Given the description of an element on the screen output the (x, y) to click on. 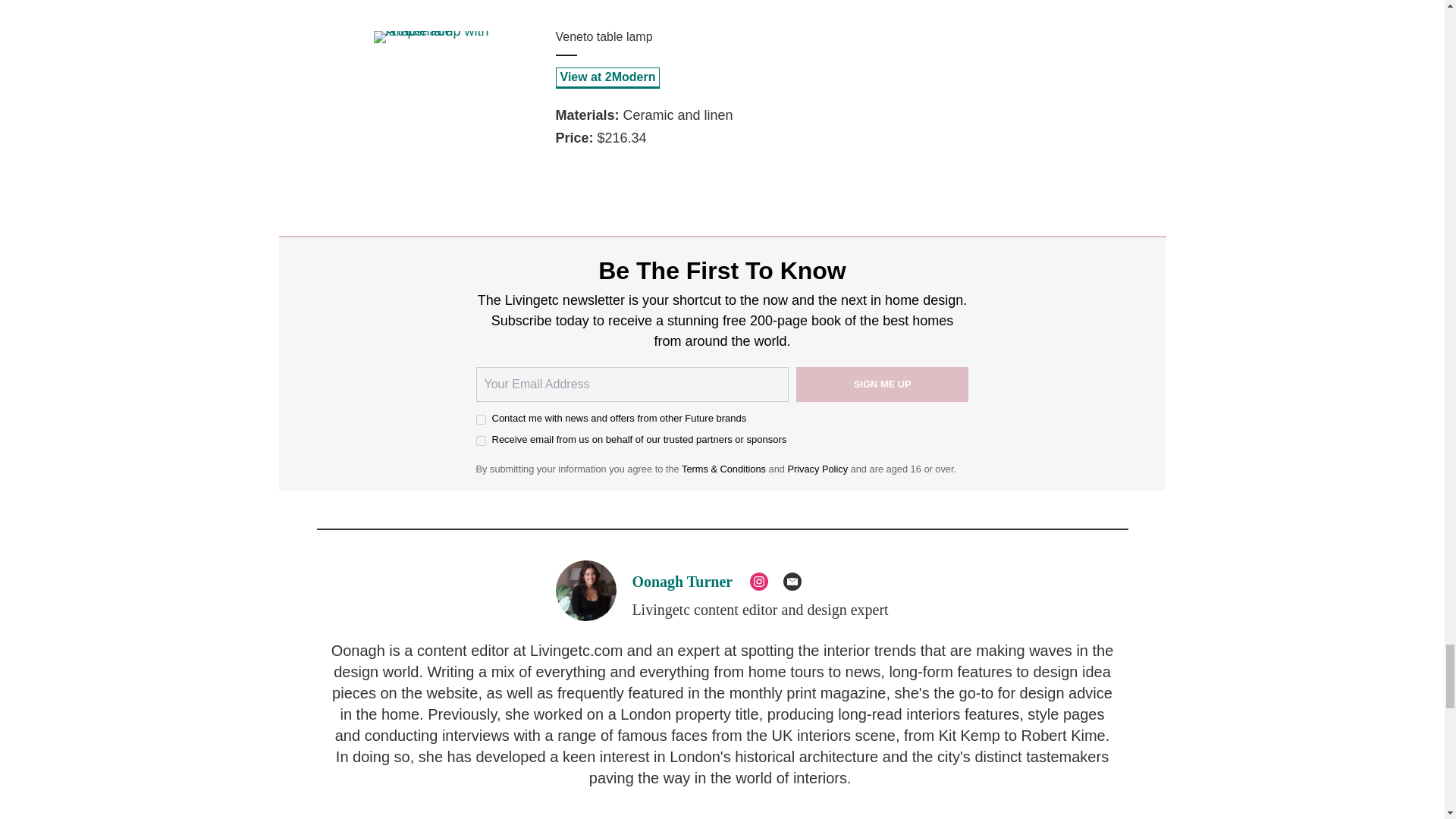
on (481, 440)
on (481, 419)
Sign me up (882, 384)
